Given the description of an element on the screen output the (x, y) to click on. 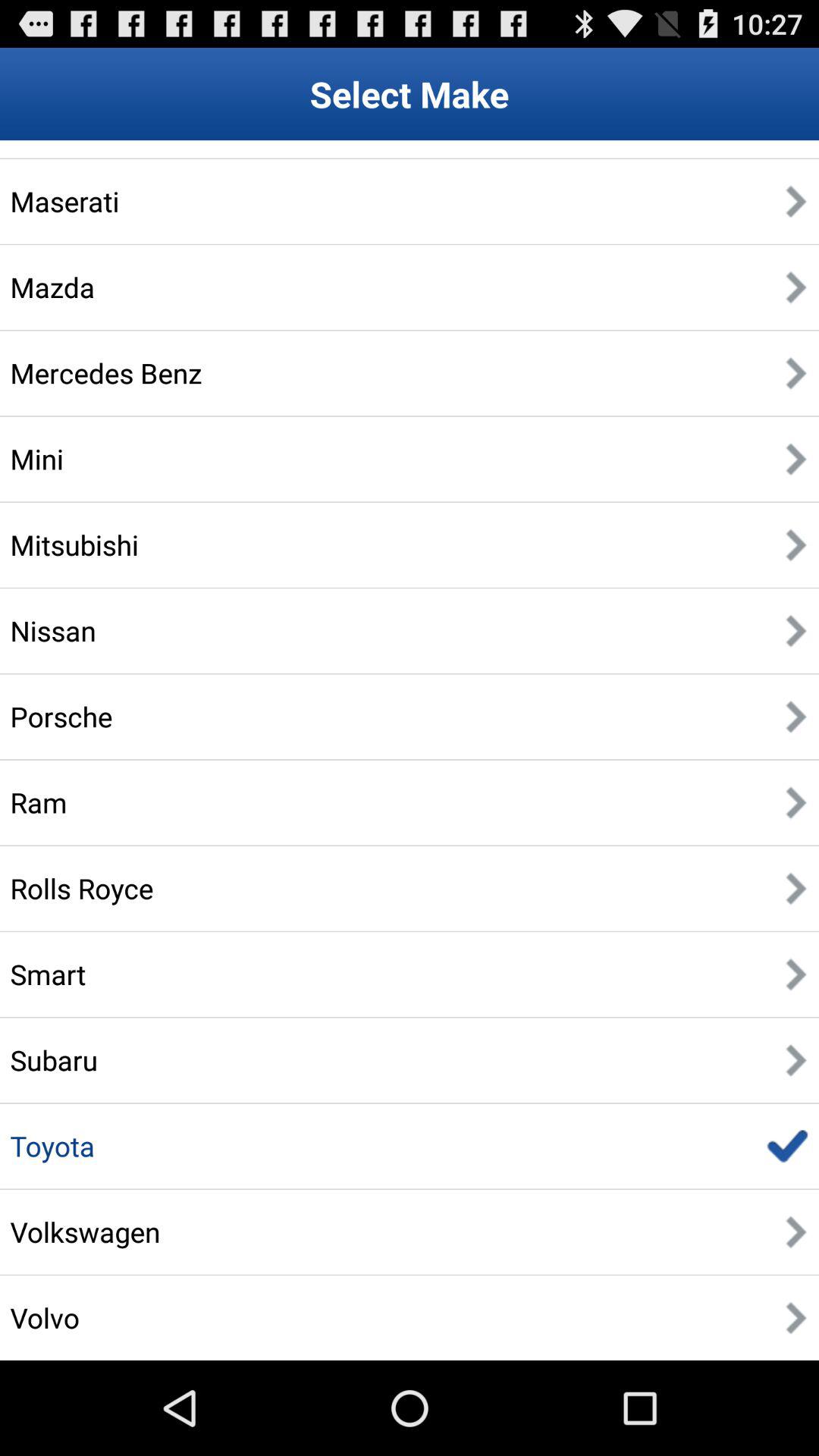
scroll until the maserati (64, 201)
